Given the description of an element on the screen output the (x, y) to click on. 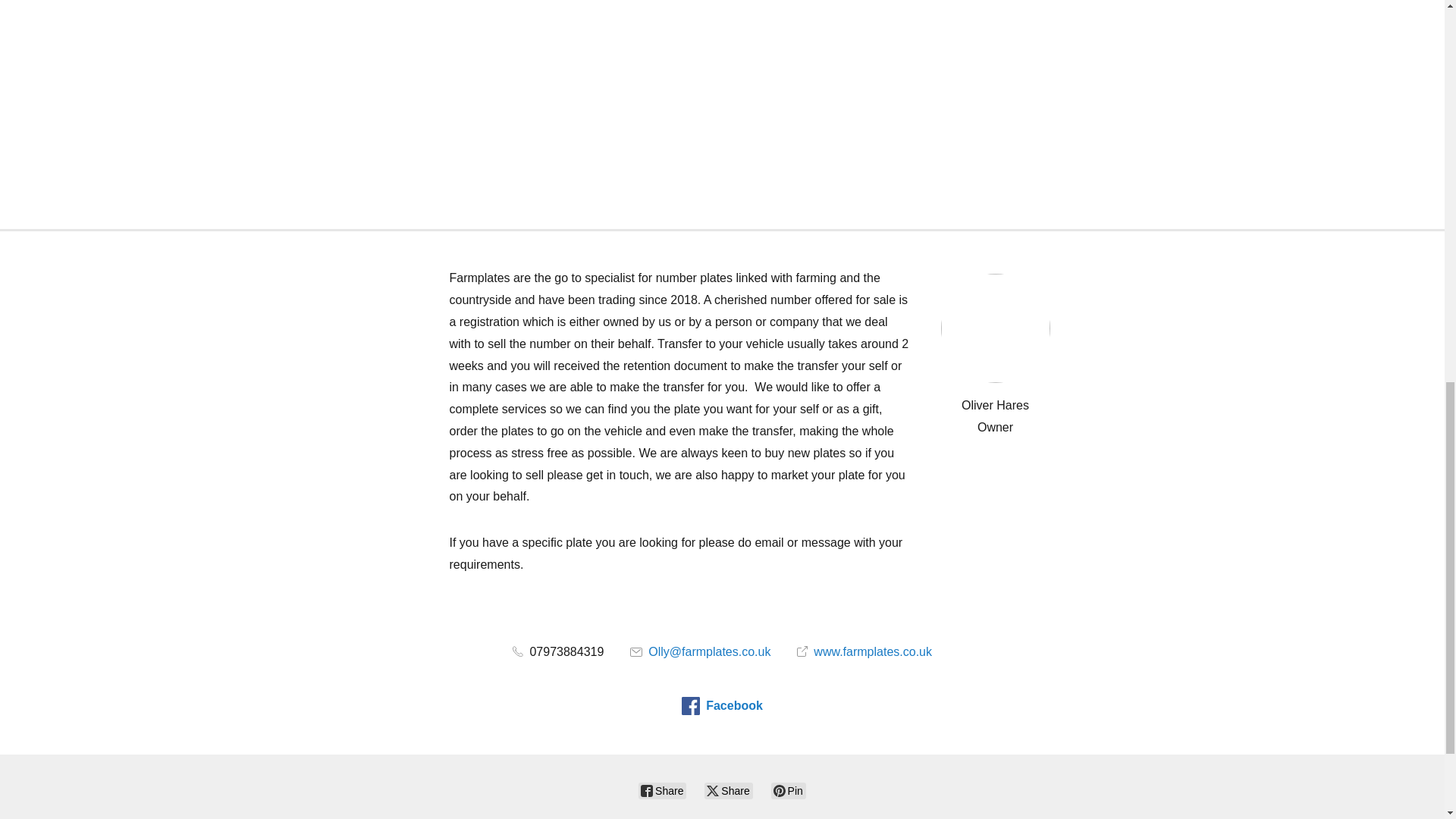
Facebook (721, 705)
07973884319 (558, 651)
www.farmplates.co.uk (863, 651)
Pin (788, 790)
Share (662, 790)
Share (728, 790)
